Given the description of an element on the screen output the (x, y) to click on. 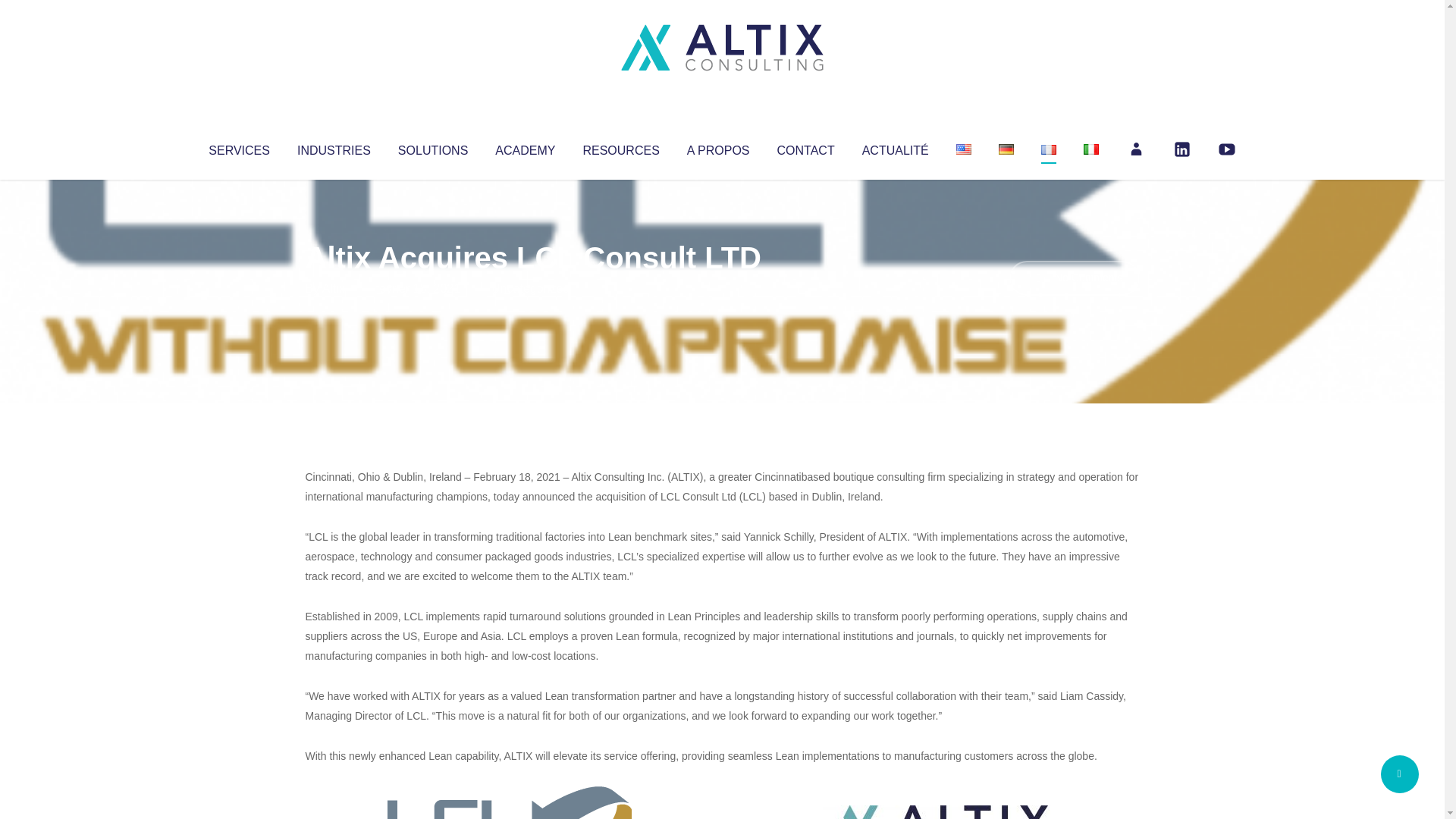
SOLUTIONS (432, 146)
Altix (333, 287)
ACADEMY (524, 146)
RESOURCES (620, 146)
A PROPOS (718, 146)
No Comments (1073, 278)
INDUSTRIES (334, 146)
Uncategorized (530, 287)
Articles par Altix (333, 287)
SERVICES (238, 146)
